Given the description of an element on the screen output the (x, y) to click on. 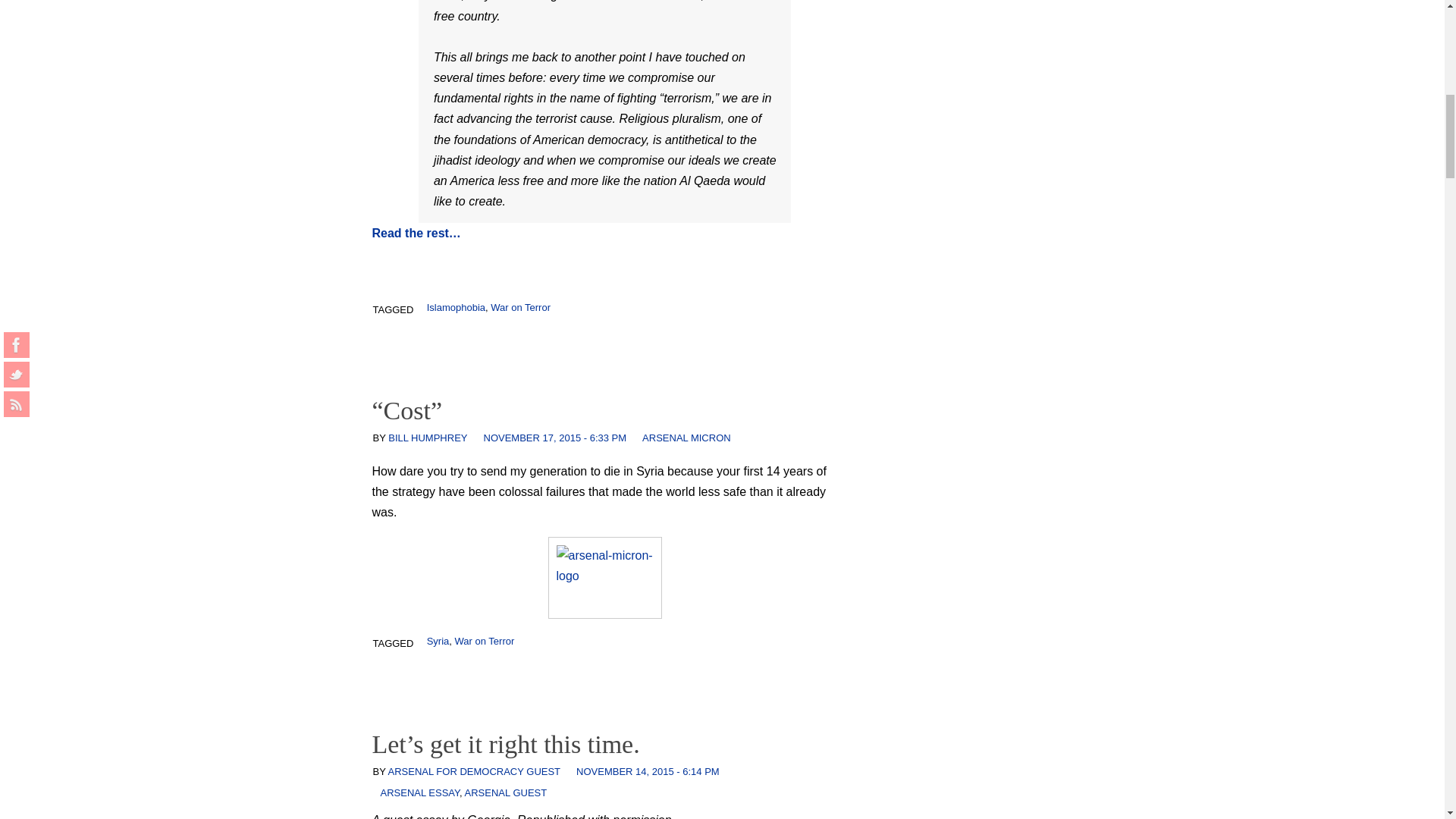
View all posts by Arsenal For Democracy Guest (474, 771)
Islamophobia (455, 307)
ARSENAL ESSAY (420, 792)
NOVEMBER 14, 2015 - 6:14 PM (647, 771)
NOVEMBER 17, 2015 - 6:33 PM (555, 437)
Syria (437, 641)
War on Terror (484, 641)
ARSENAL MICRON (686, 437)
ARSENAL FOR DEMOCRACY GUEST (474, 771)
ARSENAL GUEST (505, 792)
War on Terror (520, 307)
View all posts by Bill Humphrey (427, 437)
BILL HUMPHREY (427, 437)
